Given the description of an element on the screen output the (x, y) to click on. 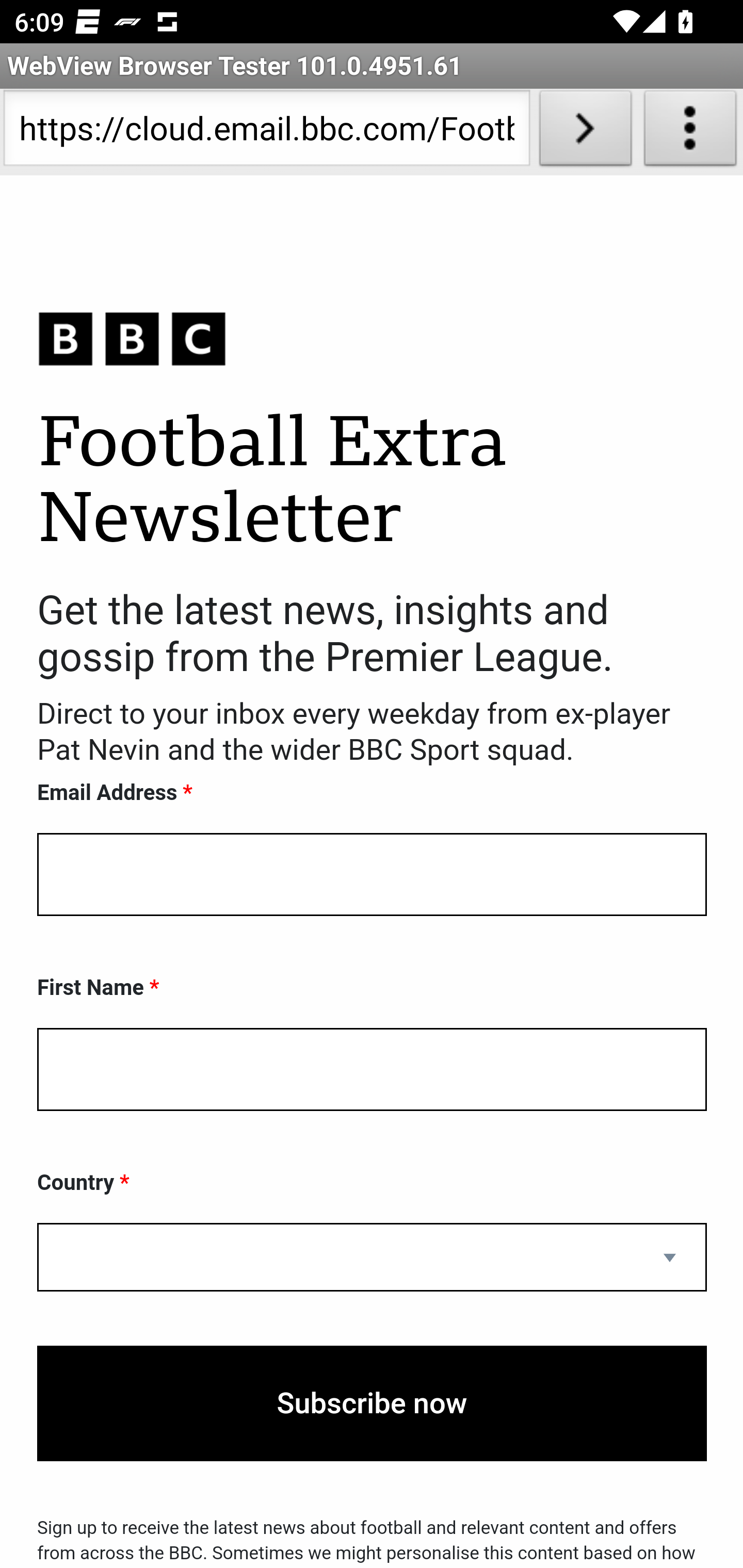
Load URL (585, 132)
About WebView (690, 132)
BBC (372, 338)
Subscribe now (372, 1403)
